Given the description of an element on the screen output the (x, y) to click on. 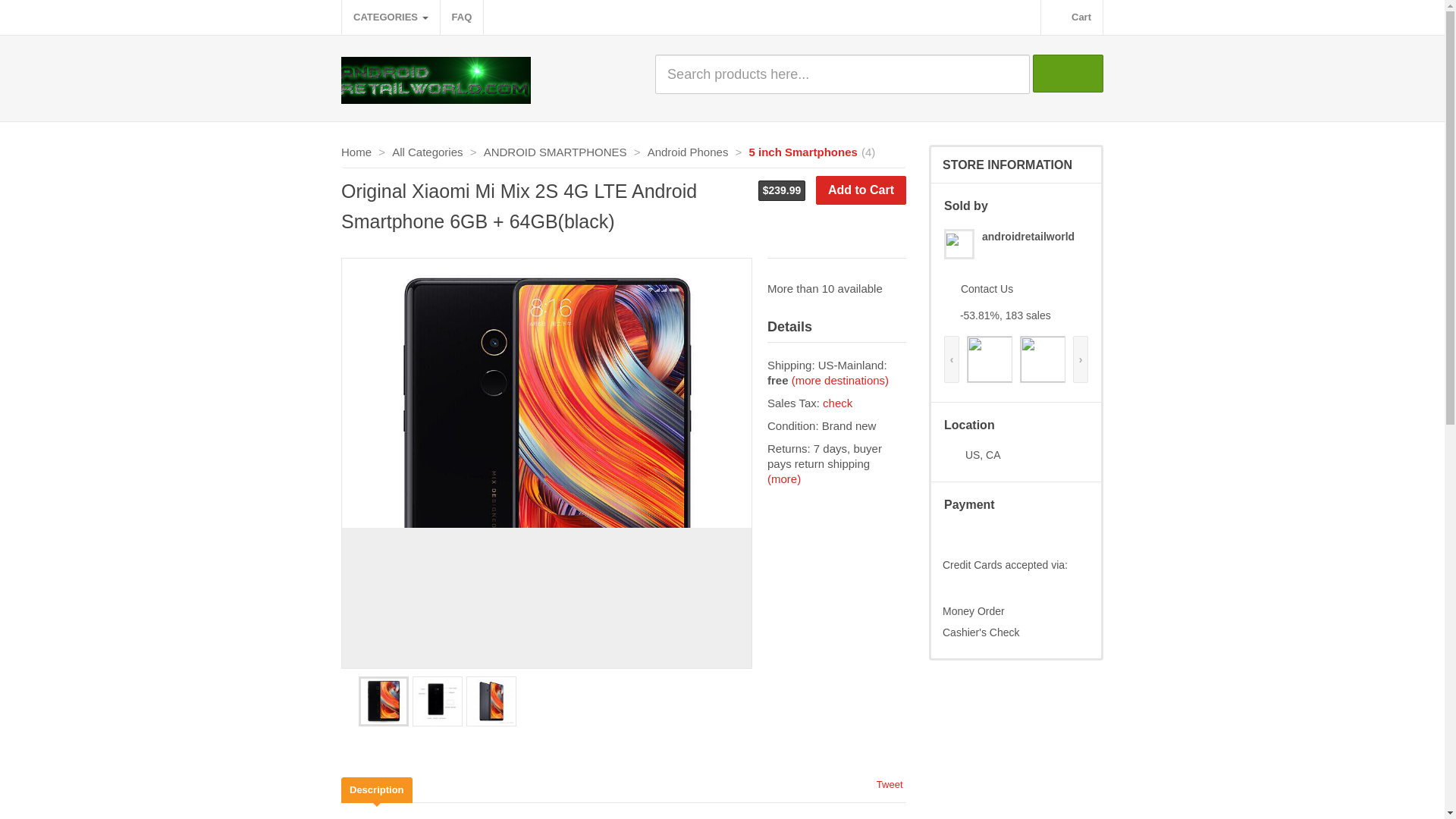
5 inch Smartphones (803, 151)
Add to Cart (860, 190)
Cart (1071, 17)
FAQ (462, 17)
All Categories (427, 151)
Home (355, 151)
Android Phones (688, 151)
CATEGORIES (390, 17)
ANDROID SMARTPHONES (555, 151)
